Given the description of an element on the screen output the (x, y) to click on. 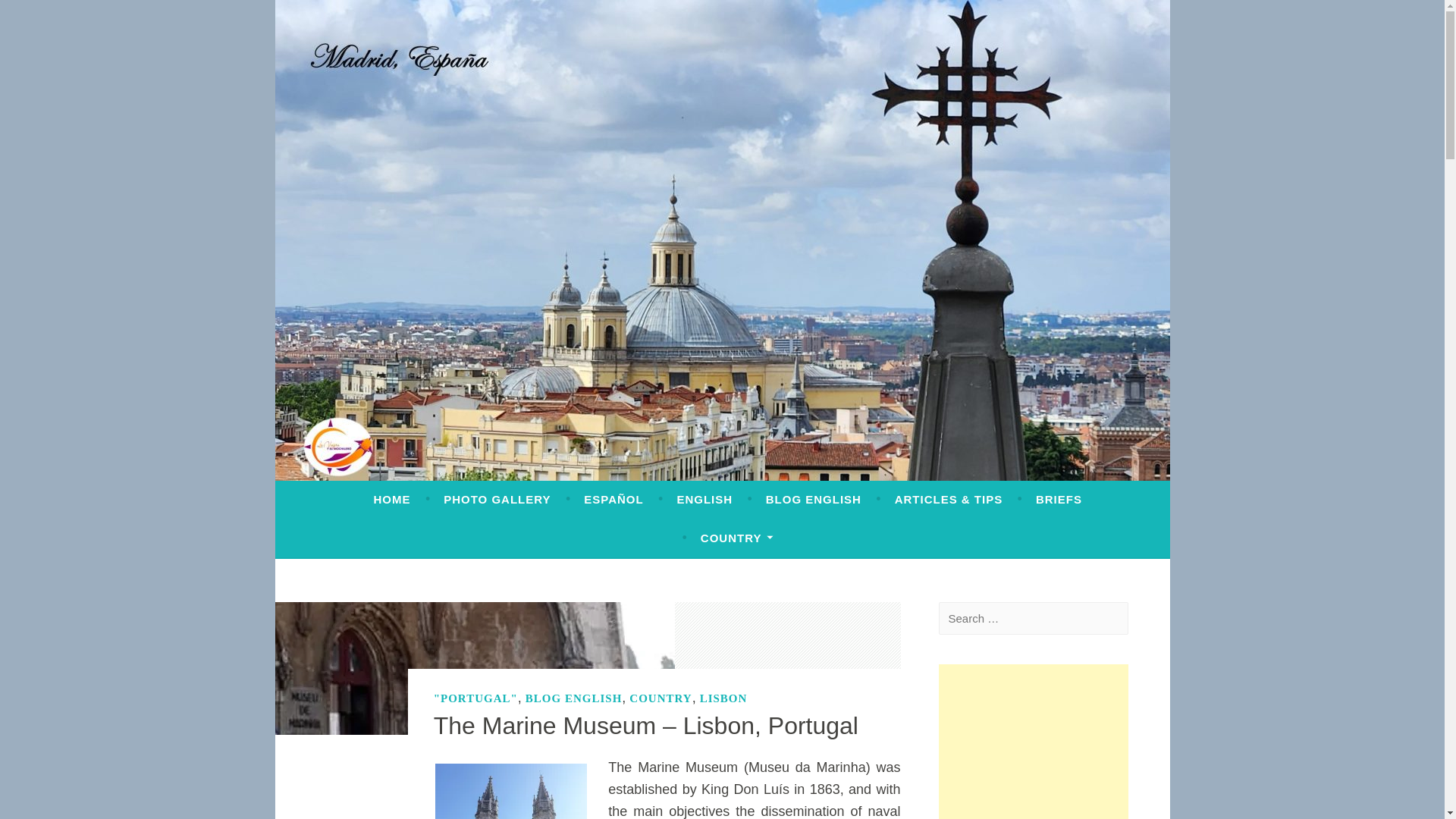
BLOG ENGLISH (813, 499)
Advertisement (1033, 741)
COUNTRY (736, 538)
PHOTO GALLERY (497, 499)
HOME (391, 499)
ENGLISH (704, 499)
BRIEFS (1058, 499)
